Given the description of an element on the screen output the (x, y) to click on. 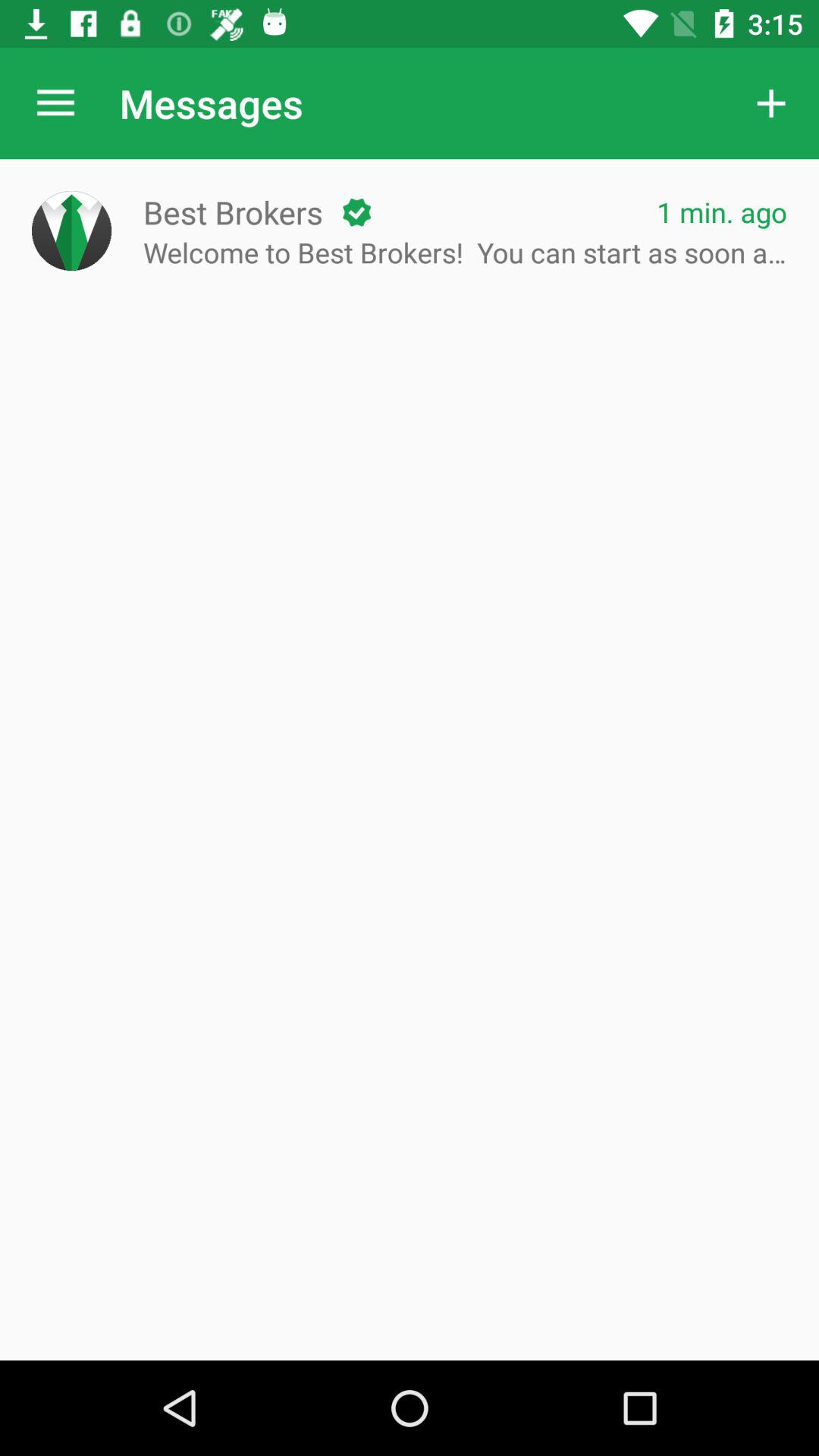
turn on the icon next to messages app (55, 103)
